Given the description of an element on the screen output the (x, y) to click on. 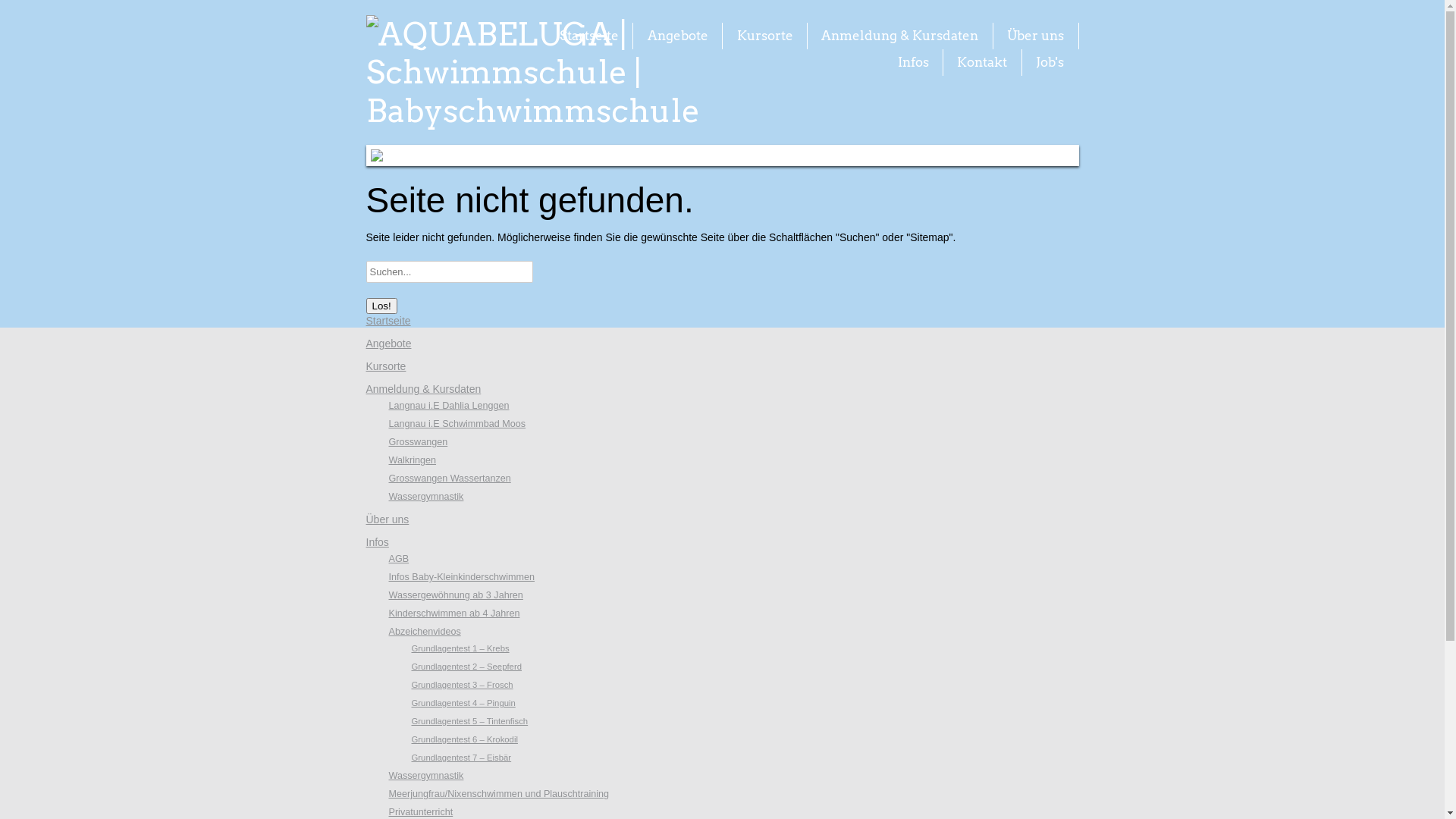
Kinderschwimmen ab 4 Jahren Element type: text (453, 613)
Langnau i.E Schwimmbad Moos Element type: text (456, 423)
Kontakt Element type: text (981, 62)
Kursorte Element type: text (385, 366)
Abzeichenvideos Element type: text (424, 631)
Grosswangen Wassertanzen Element type: text (449, 478)
Walkringen Element type: text (412, 460)
Grosswangen Element type: text (417, 441)
Anmeldung & Kursdaten Element type: text (422, 388)
Kursorte Element type: text (764, 35)
Angebote Element type: text (677, 35)
Los! Element type: text (380, 305)
Infos Element type: text (913, 62)
Wassergymnastik Element type: text (425, 496)
Wassergymnastik Element type: text (425, 775)
Langnau i.E Dahlia Lenggen Element type: text (448, 405)
Infos Baby-Kleinkinderschwimmen Element type: text (461, 576)
Privatunterricht Element type: text (420, 811)
Meerjungfrau/Nixenschwimmen und Plauschtraining Element type: text (498, 793)
Startseite Element type: text (589, 35)
Angebote Element type: text (388, 343)
AGB Element type: text (398, 558)
Startseite Element type: text (387, 320)
Anmeldung & Kursdaten Element type: text (899, 35)
Job's Element type: text (1049, 62)
Infos Element type: text (376, 542)
